Given the description of an element on the screen output the (x, y) to click on. 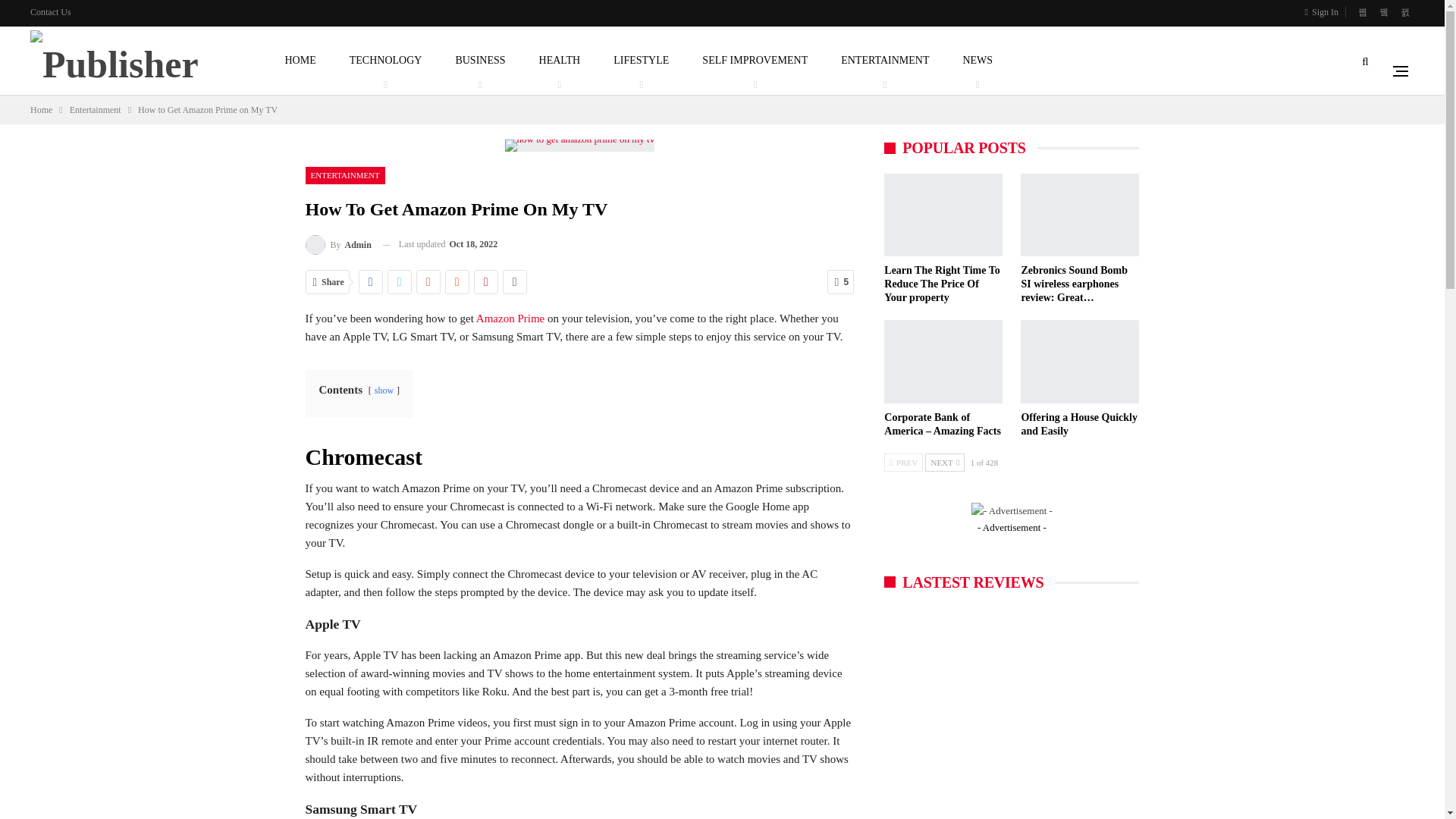
Learn The Right Time To Reduce The Price Of Your property (940, 283)
LIFESTYLE (641, 60)
SELF IMPROVEMENT (754, 60)
Contact Us (50, 11)
Learn The Right Time To Reduce The Price Of Your property (943, 214)
TECHNOLOGY (385, 60)
Browse Author Articles (337, 244)
Sign In (1323, 12)
BUSINESS (480, 60)
